Given the description of an element on the screen output the (x, y) to click on. 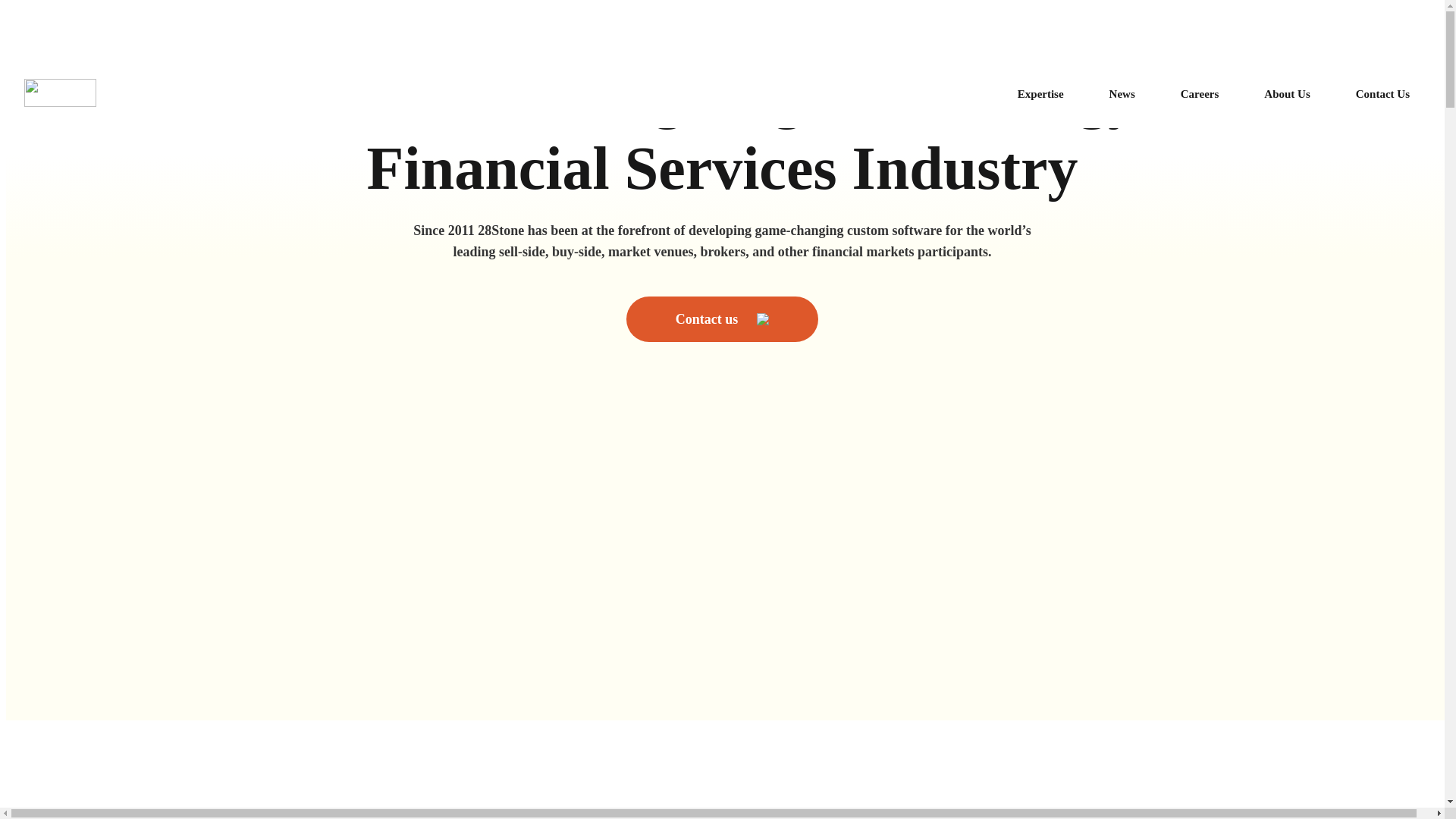
Expertise (1040, 93)
News (1121, 93)
Contact Us (1382, 93)
About Us (1286, 93)
Contact us (722, 319)
Careers (1199, 93)
